Given the description of an element on the screen output the (x, y) to click on. 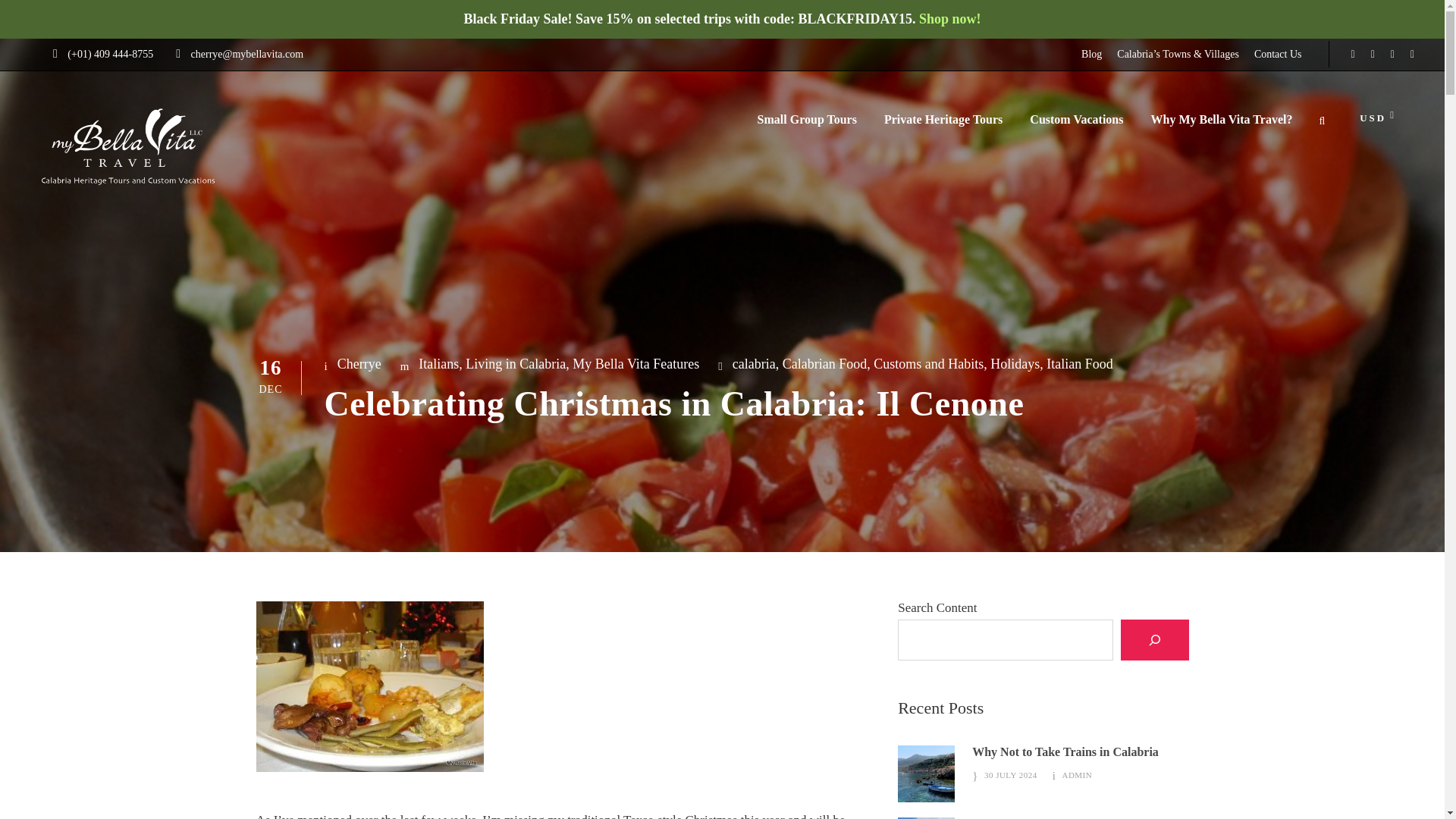
Posts by admin (1076, 774)
Small Group Tours (807, 126)
Shop now! (949, 18)
Private Heritage Tours (943, 126)
Custom Vacations (1075, 126)
myBellaVitaWHITE (129, 146)
Contact Us (1277, 54)
Posts by Cherrye (359, 363)
Why My Bella Vita Travel? (1221, 126)
Blog (1091, 54)
